Given the description of an element on the screen output the (x, y) to click on. 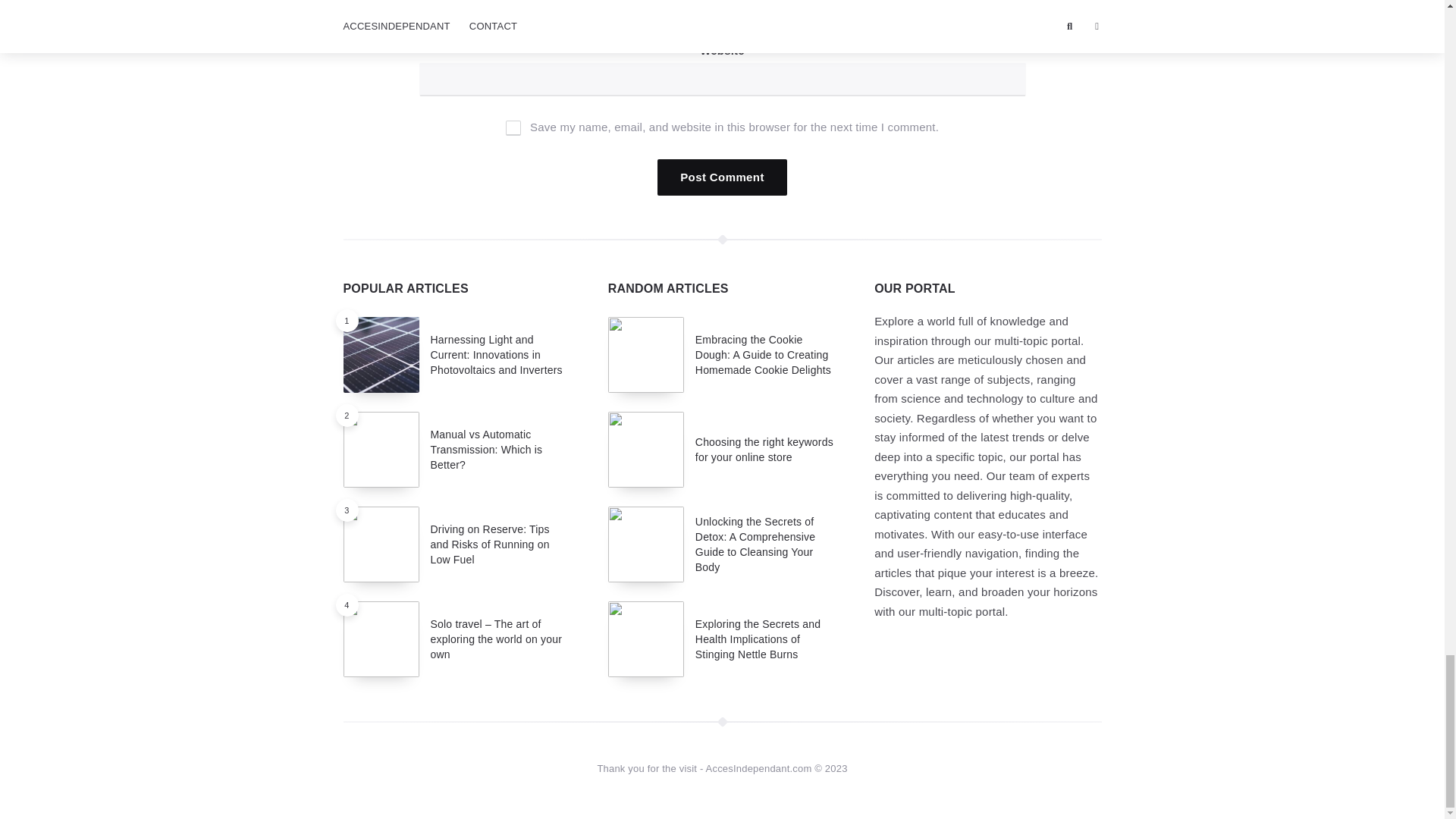
yes (513, 127)
Driving on Reserve: Tips and Risks of Running on Low Fuel (490, 544)
Choosing the right keywords for your online store (763, 449)
Post comment (722, 176)
Post comment (722, 176)
Manual vs Automatic Transmission: Which is Better? (486, 449)
